Given the description of an element on the screen output the (x, y) to click on. 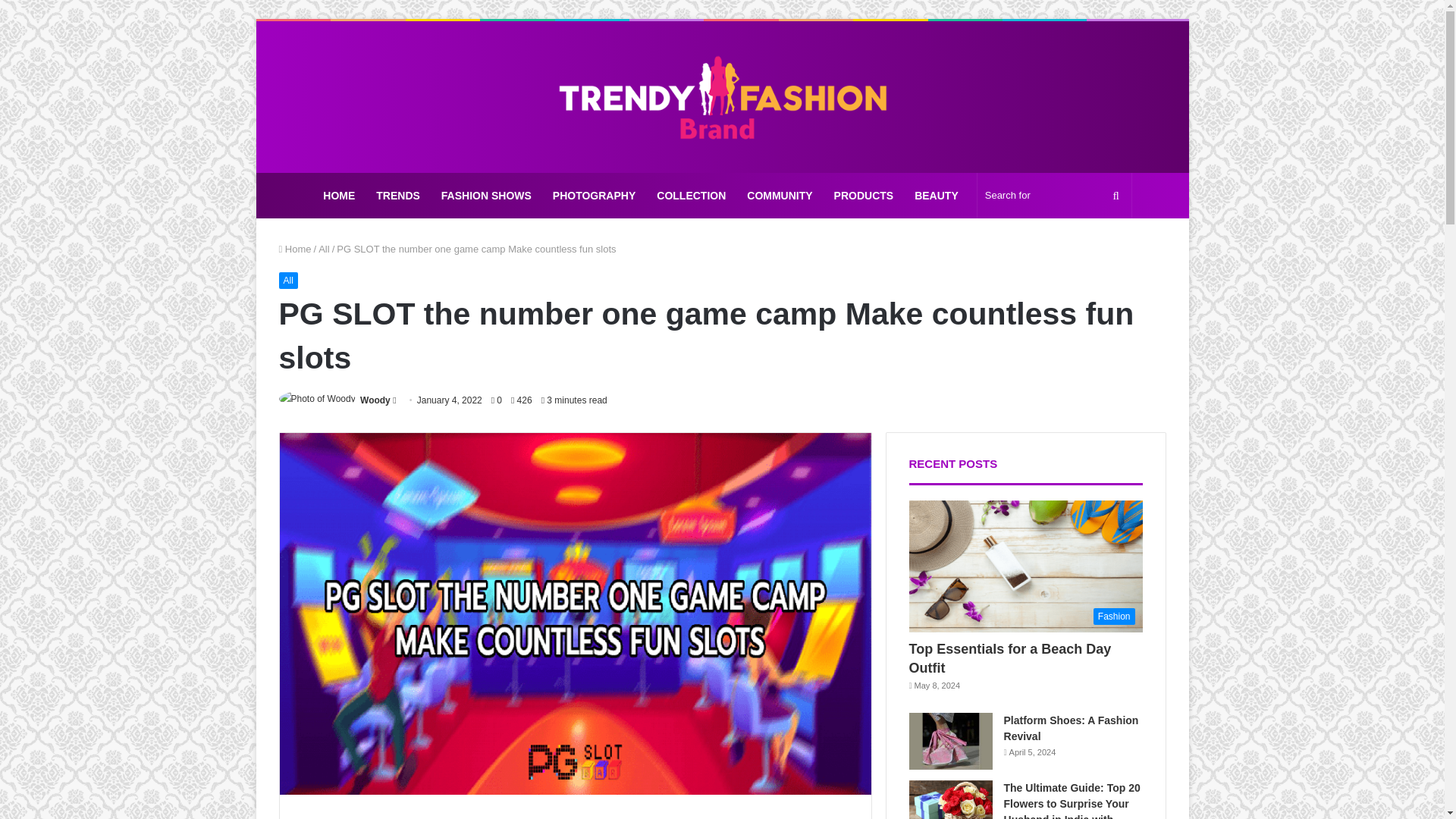
HOME (339, 195)
COMMUNITY (779, 195)
TrendyFashionBrand.com (721, 96)
BEAUTY (936, 195)
PHOTOGRAPHY (593, 195)
Home (295, 248)
All (323, 248)
Woody (374, 399)
Search for (1053, 195)
FASHION SHOWS (485, 195)
Search for (1115, 195)
COLLECTION (691, 195)
PRODUCTS (864, 195)
